Given the description of an element on the screen output the (x, y) to click on. 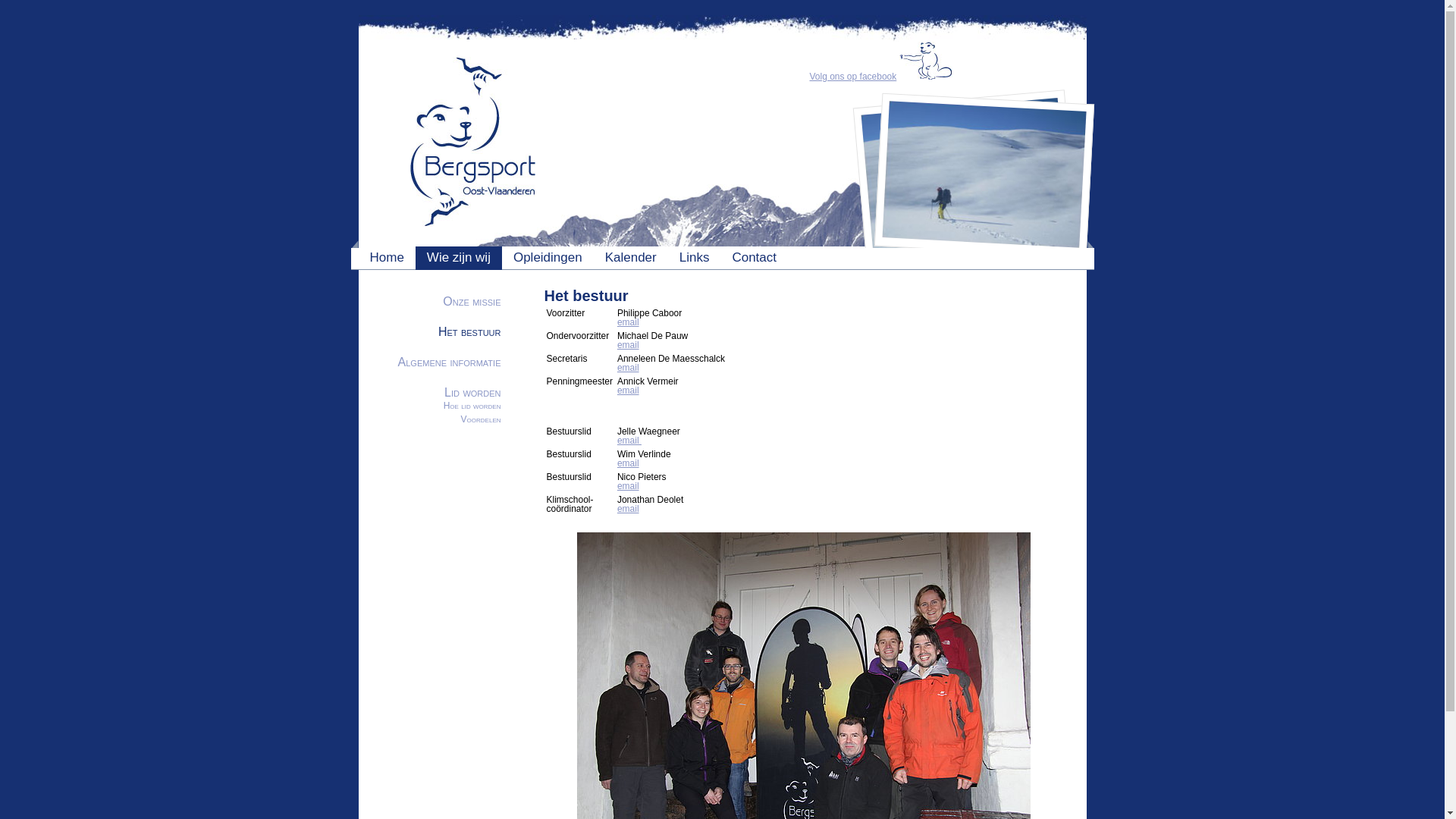
email Element type: text (628, 463)
Wie zijn wij Element type: text (458, 257)
email Element type: text (628, 508)
email Element type: text (628, 344)
Hoe lid worden Element type: text (472, 405)
Voordelen Element type: text (481, 419)
email Element type: text (628, 321)
email Element type: text (628, 390)
Links Element type: text (694, 257)
Lid worden Element type: text (472, 391)
email Element type: text (628, 367)
Terug de homepage Element type: hover (445, 224)
email Element type: text (628, 485)
Opleidingen Element type: text (547, 257)
Contact Element type: text (753, 257)
Volg ons op facebook Element type: text (853, 76)
email  Element type: text (629, 440)
Het bestuur Element type: text (469, 331)
Algemene informatie Element type: text (449, 361)
Home Element type: text (387, 257)
Kalender Element type: text (630, 257)
Onze missie Element type: text (471, 300)
